Given the description of an element on the screen output the (x, y) to click on. 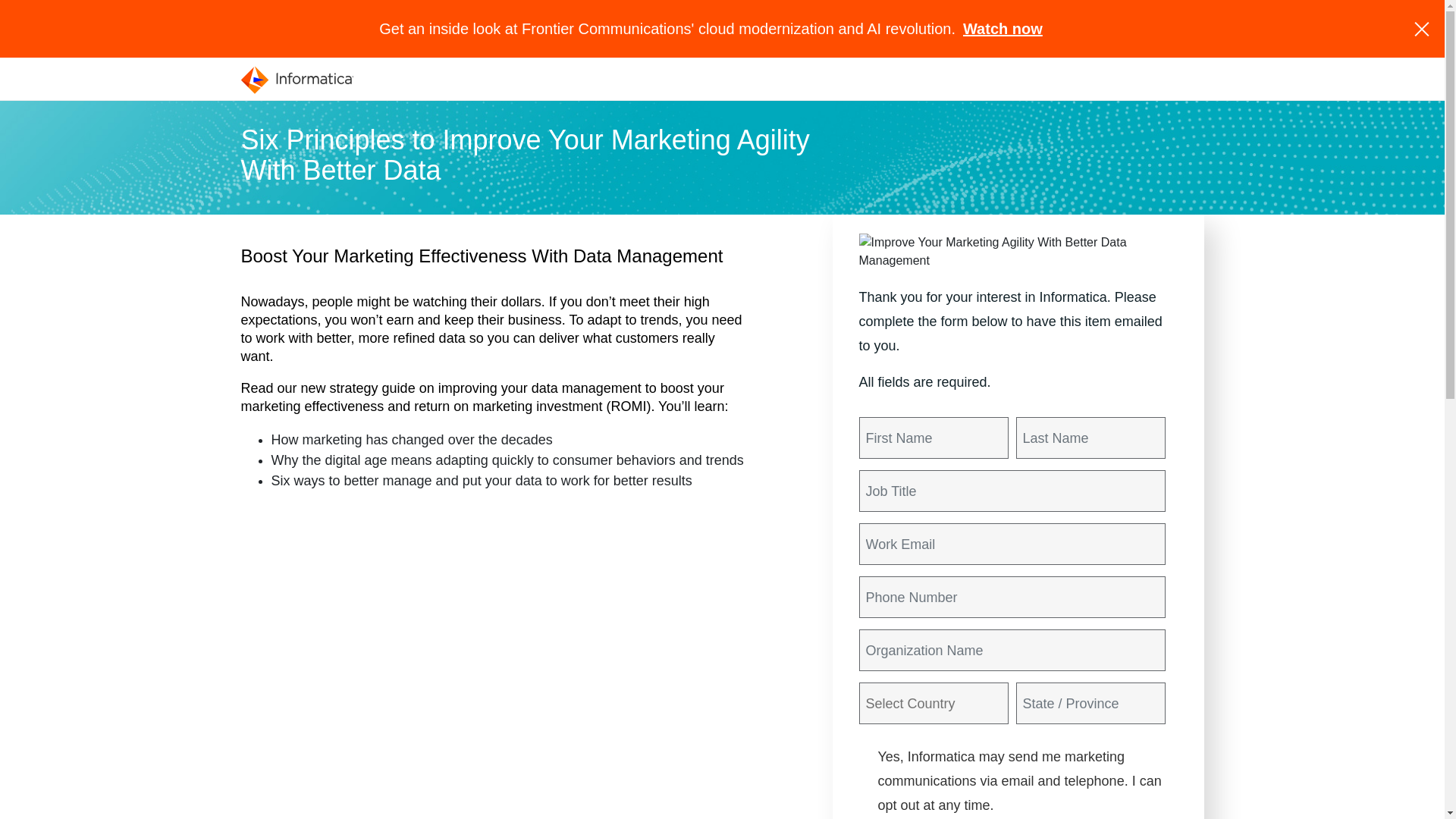
Watch now (1002, 28)
